Given the description of an element on the screen output the (x, y) to click on. 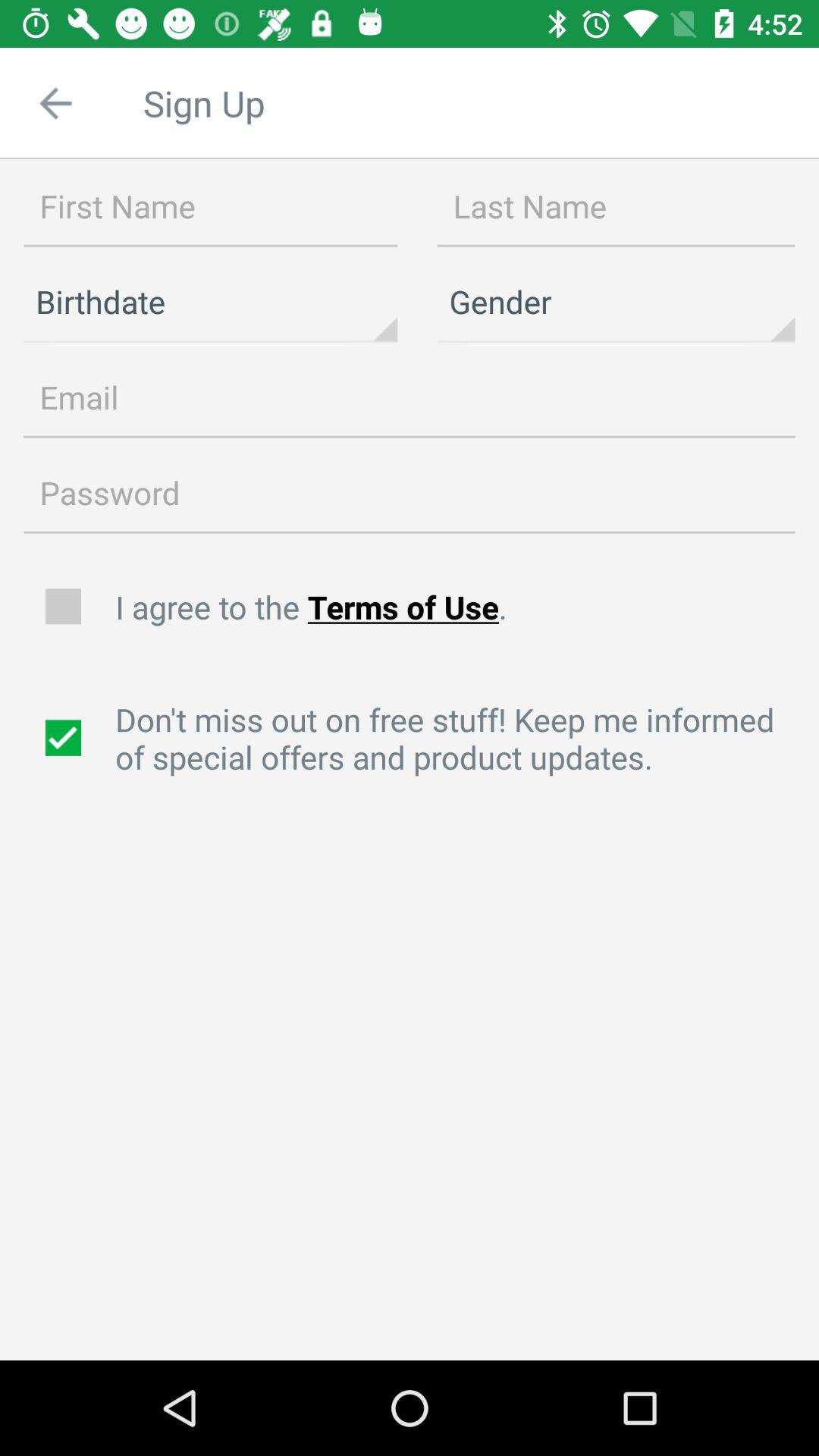
jump to i agree to item (459, 606)
